Given the description of an element on the screen output the (x, y) to click on. 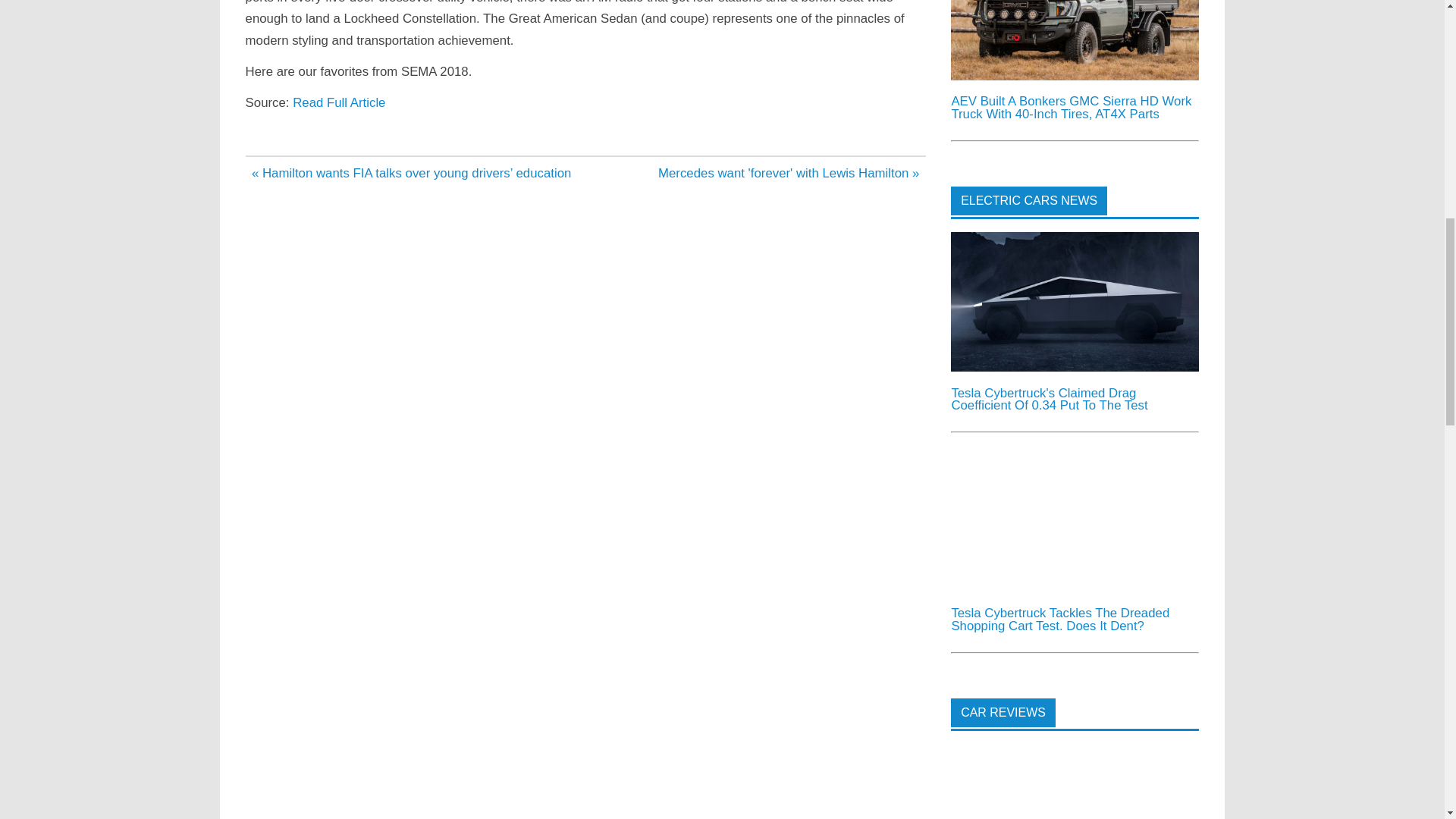
Read Full Article (338, 102)
